Given the description of an element on the screen output the (x, y) to click on. 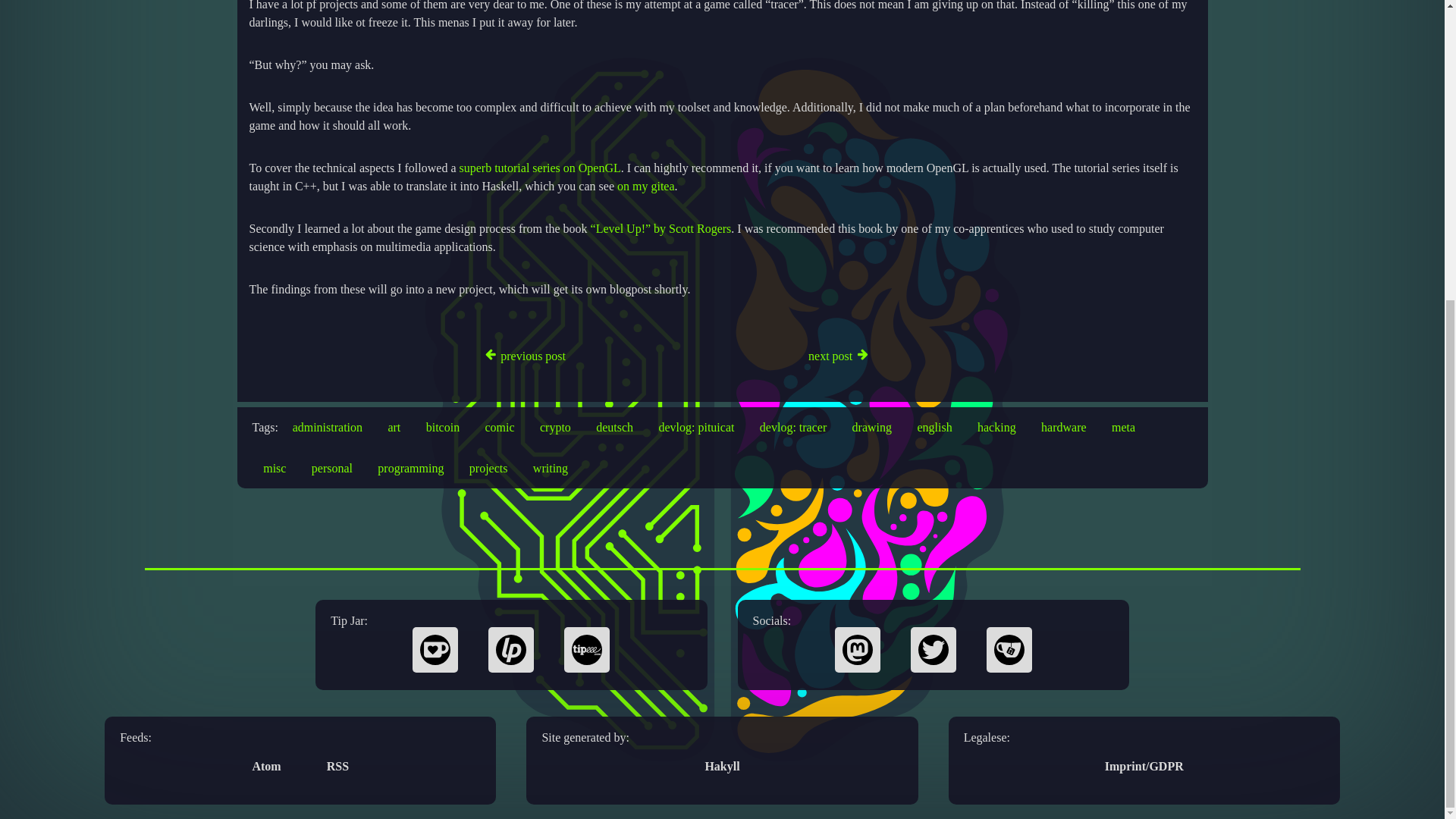
deutsch (615, 427)
programming (410, 467)
administration (327, 427)
devlog: tracer (793, 427)
devlog: pituicat (696, 427)
previous post (400, 356)
bitcoin (442, 427)
Atom (266, 766)
english (934, 427)
hardware (1063, 427)
